Given the description of an element on the screen output the (x, y) to click on. 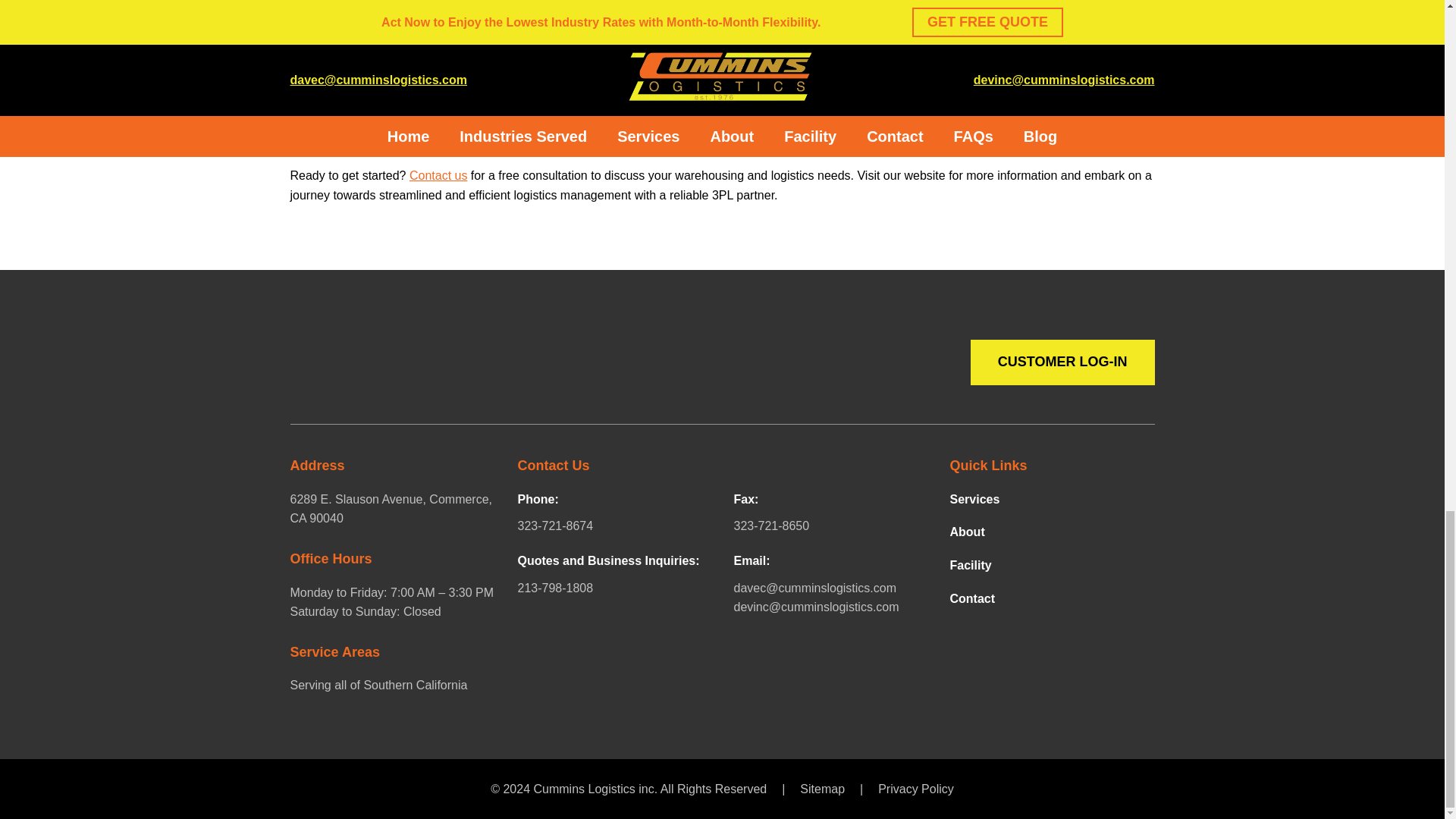
323-721-8674 (613, 526)
Contact us (438, 175)
business industry (336, 21)
213-798-1808 (613, 588)
Customer Login (1062, 361)
CUSTOMER LOG-IN (1062, 361)
